Given the description of an element on the screen output the (x, y) to click on. 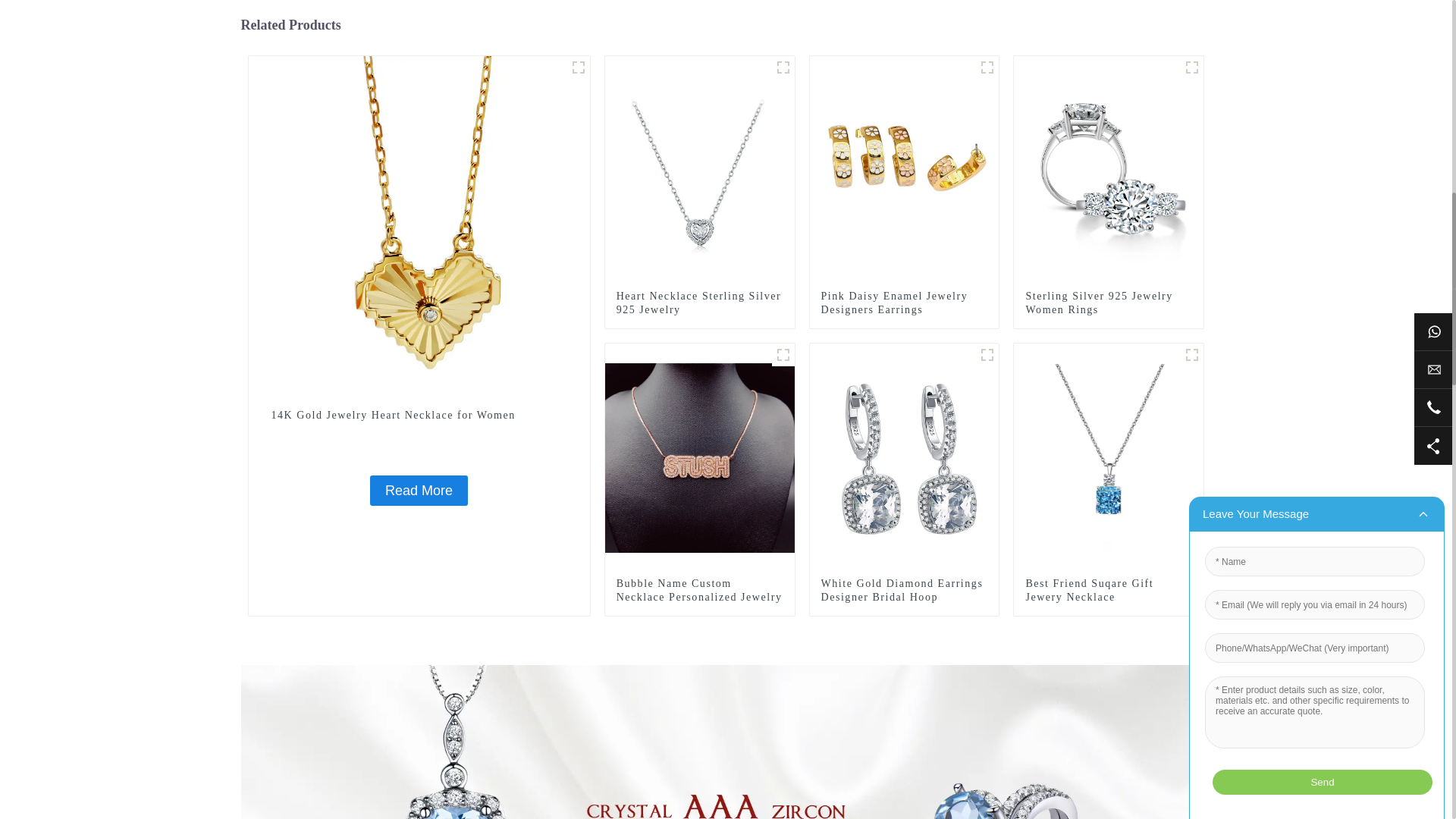
Pink Daisy Enamel Jewelry Designers Earrings (904, 302)
Heart Necklace Sterling Silver 925 Jewelry  (699, 302)
Heart Necklace Sterling Silver 925 Jewelry (699, 302)
Sterling Silver 925 Jewelry Women Rings (1108, 302)
14K Gold Jewelry Heart Necklace for Women (418, 415)
yellow gold jewelry wholesale (578, 67)
Bubble Name Custom Necklace Personalized Jewelry (699, 457)
Read More (418, 490)
925 sterling silver engagement ring (1192, 67)
Pink Daisy Enamel Jewelry Designers Earrings (903, 169)
Heart Necklace Sterling Silver 925 Jewelry  (699, 169)
14K Gold Jewelry Heart Necklace for Women (418, 415)
Sterling Silver 925 Jewelry Women Rings (1108, 169)
Pink Daisy Enamel Jewelry Designers Earrings (904, 302)
14K Gold Jewelry Heart Necklace for Women (418, 225)
